Given the description of an element on the screen output the (x, y) to click on. 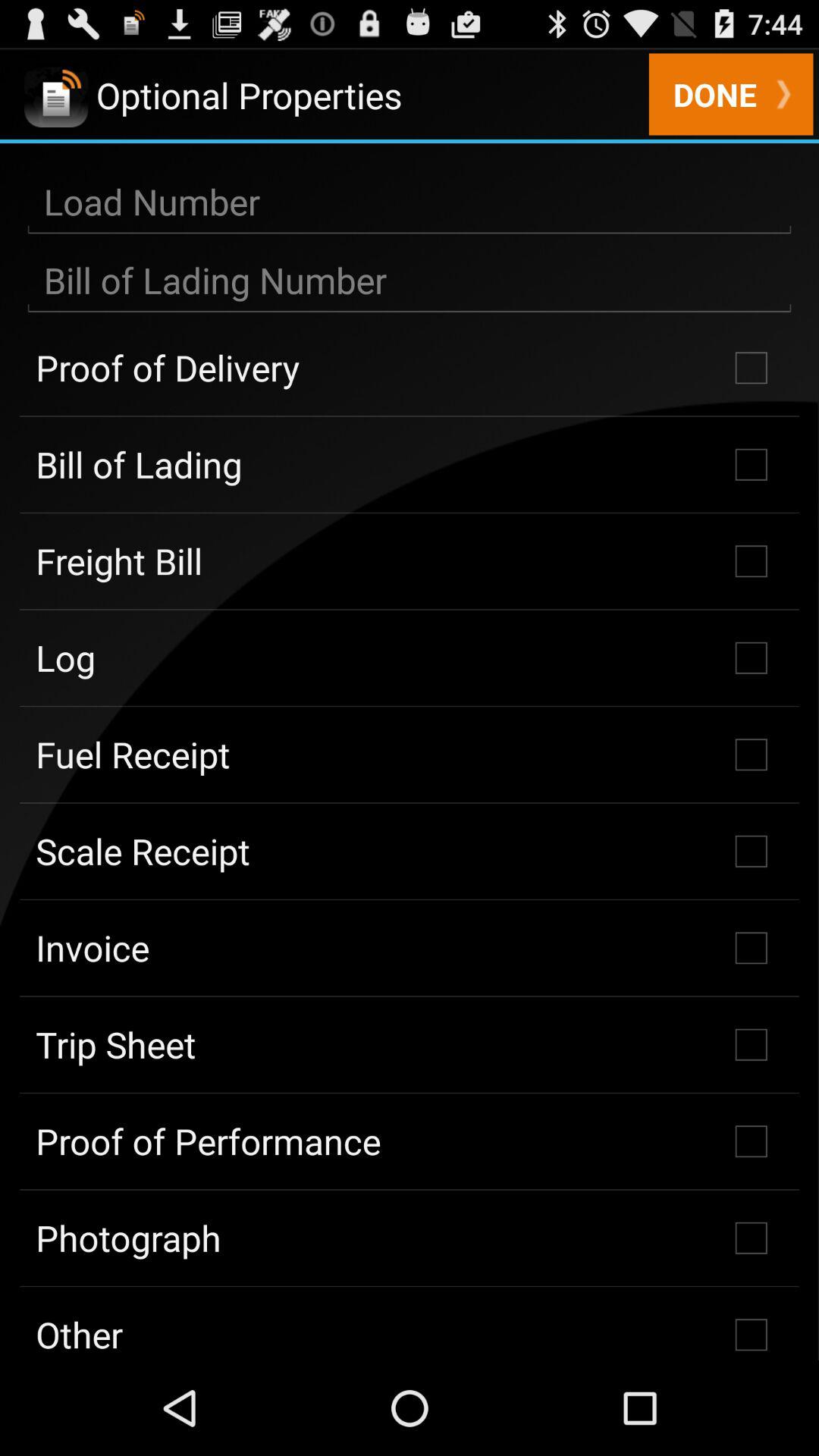
click icon below the log (409, 754)
